Given the description of an element on the screen output the (x, y) to click on. 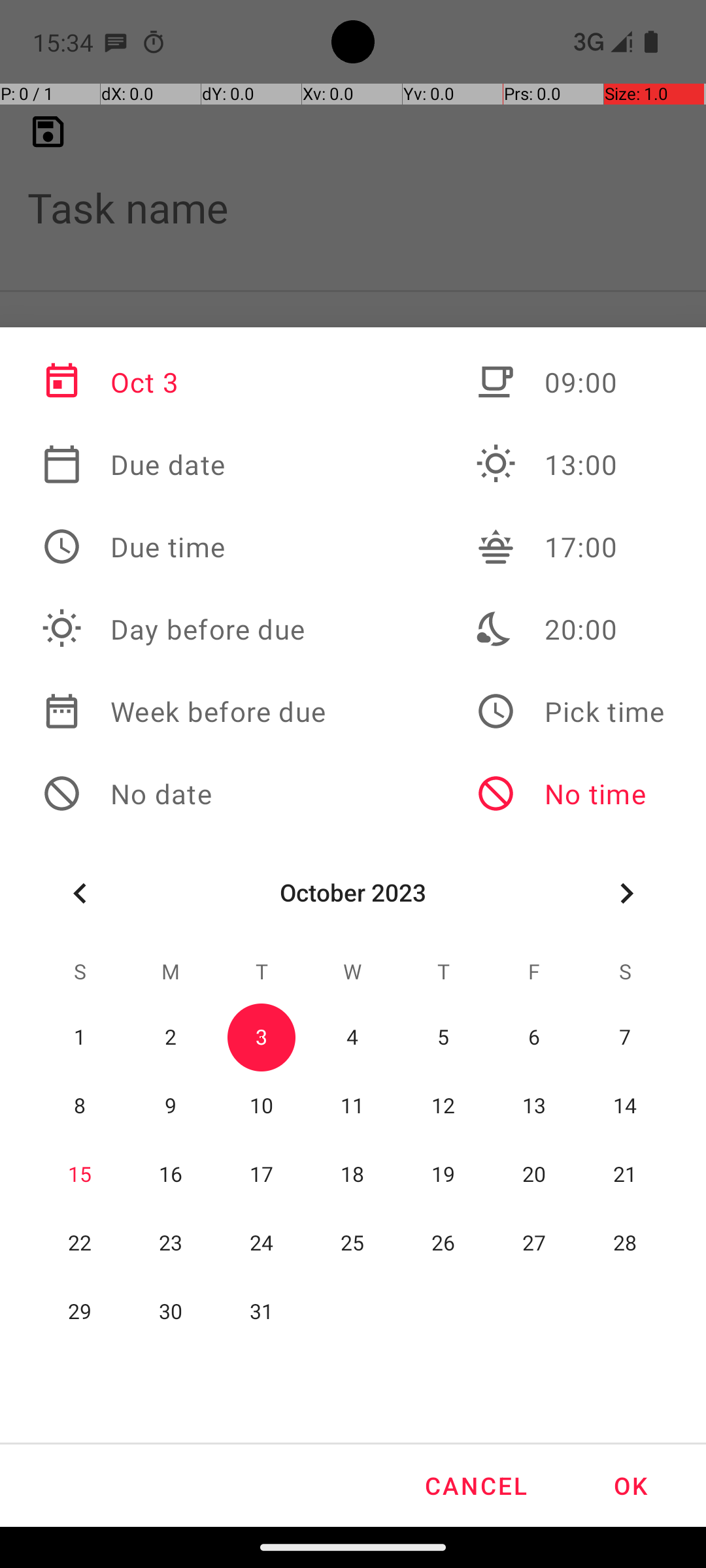
Oct 3 Element type: android.widget.CompoundButton (183, 382)
